Given the description of an element on the screen output the (x, y) to click on. 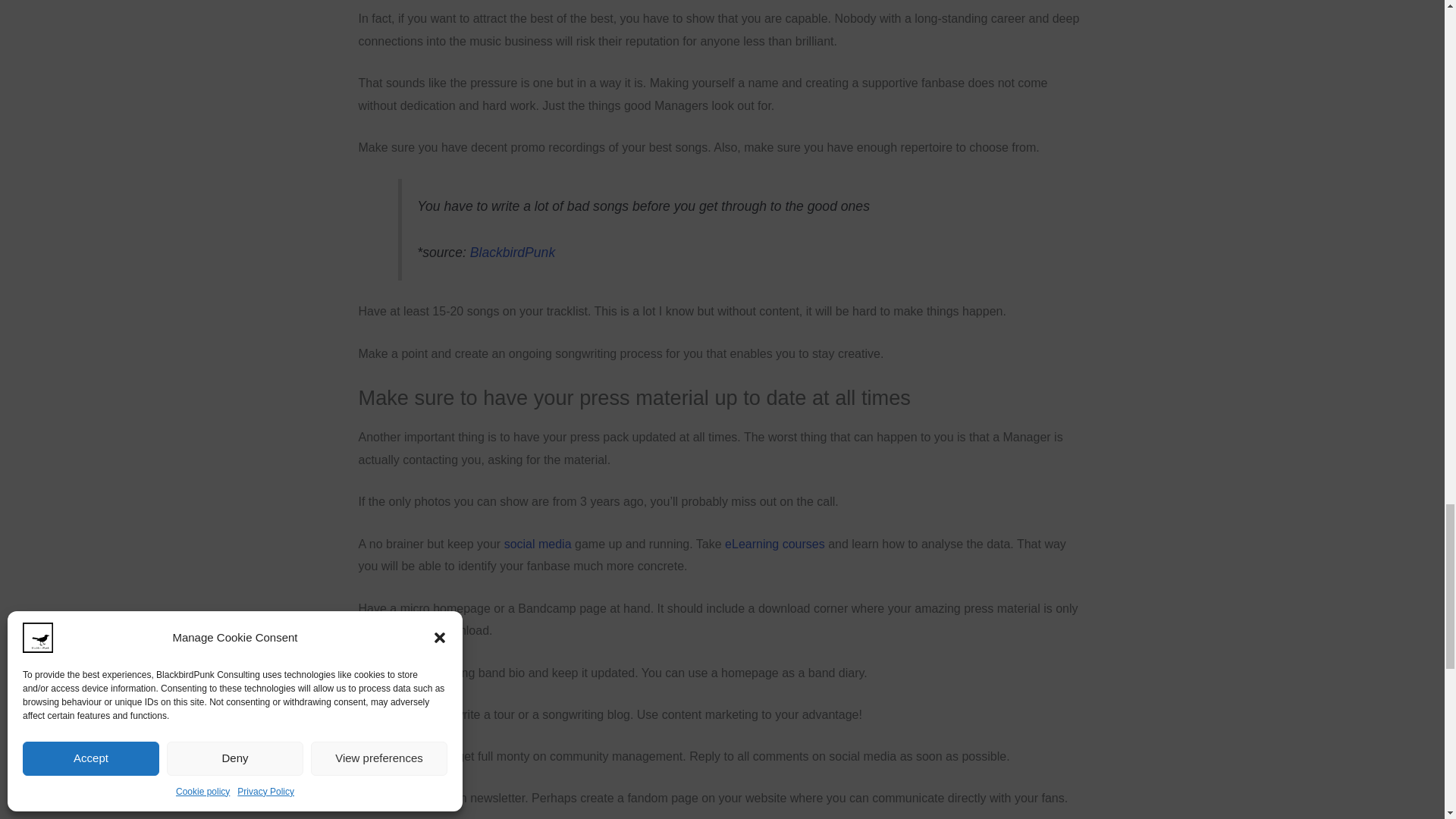
social media (537, 543)
BlackbirdPunk (512, 252)
eLearning courses (775, 543)
